Given the description of an element on the screen output the (x, y) to click on. 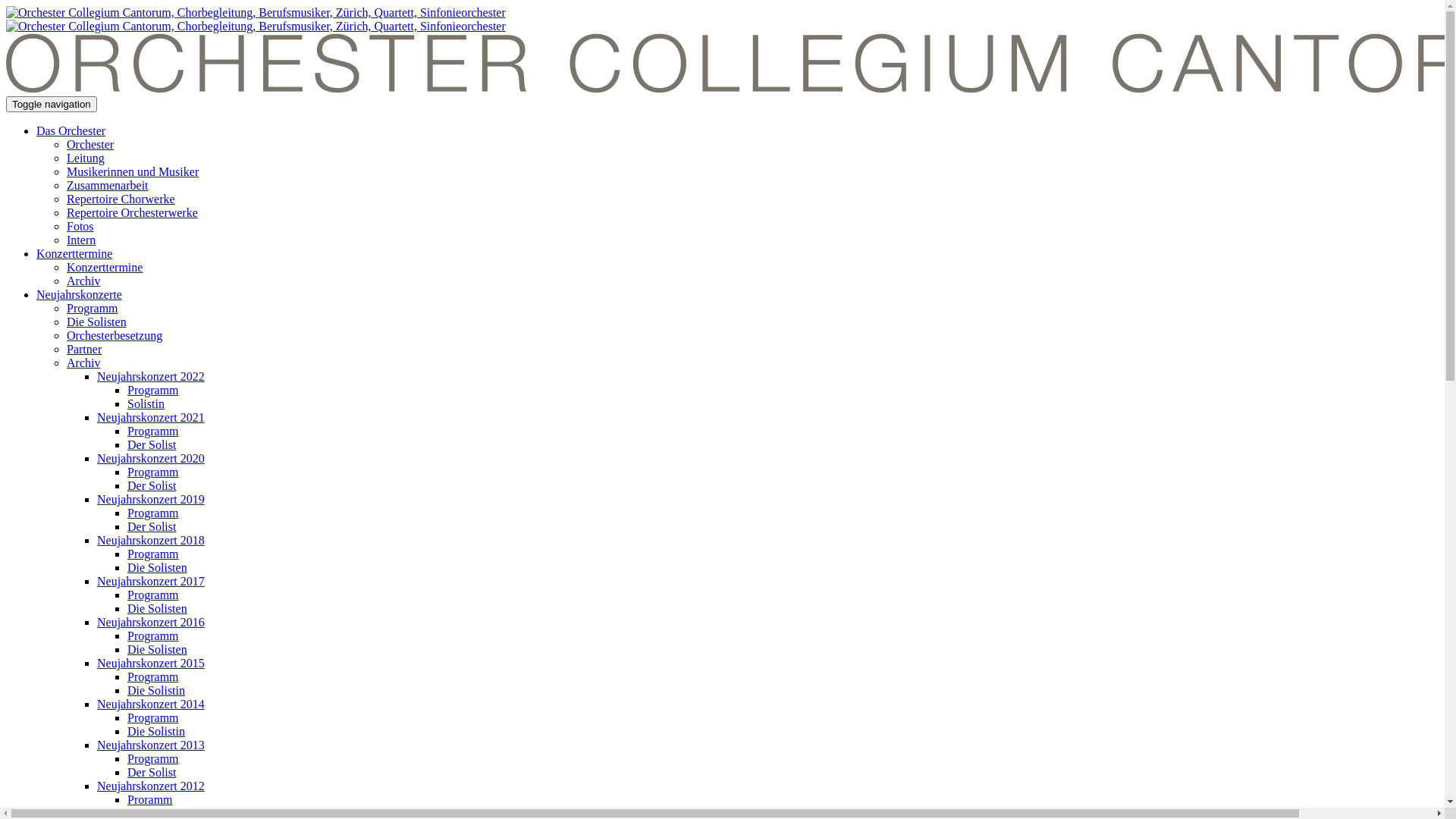
Programm Element type: text (152, 676)
Das Orchester Element type: text (70, 130)
Programm Element type: text (152, 389)
Repertoire Chorwerke Element type: text (120, 198)
Neujahrskonzert 2014 Element type: text (150, 703)
Konzerttermine Element type: text (104, 266)
Der Solist Element type: text (151, 444)
Die Solistin Element type: text (156, 730)
Neujahrskonzert 2019 Element type: text (150, 498)
Neujahrskonzert 2015 Element type: text (150, 662)
Repertoire Orchesterwerke Element type: text (131, 212)
Orchester Element type: text (89, 144)
Neujahrskonzert 2022 Element type: text (150, 376)
Programm Element type: text (152, 717)
Programm Element type: text (92, 307)
Neujahrskonzert 2012 Element type: text (150, 785)
Archiv Element type: text (83, 280)
Leitung Element type: text (85, 157)
Programm Element type: text (152, 594)
Neujahrskonzert 2020 Element type: text (150, 457)
Die Solistin Element type: text (156, 690)
Fotos Element type: text (80, 225)
Intern Element type: text (80, 239)
Zusammenarbeit Element type: text (107, 184)
Neujahrskonzert 2017 Element type: text (150, 580)
Archiv Element type: text (83, 362)
Neujahrskonzert 2013 Element type: text (150, 744)
Proramm Element type: text (149, 799)
Programm Element type: text (152, 471)
Die Solisten Element type: text (96, 321)
Neujahrskonzert 2016 Element type: text (150, 621)
Der Solist Element type: text (151, 526)
Programm Element type: text (152, 635)
Programm Element type: text (152, 758)
Konzerttermine Element type: text (74, 253)
Musikerinnen und Musiker Element type: text (132, 171)
Der Solist Element type: text (151, 771)
Neujahrskonzert 2018 Element type: text (150, 539)
Orchesterbesetzung Element type: text (114, 335)
Programm Element type: text (152, 430)
Toggle navigation Element type: text (51, 104)
Die Solisten Element type: text (157, 567)
Die Solisten Element type: text (157, 649)
Programm Element type: text (152, 512)
Programm Element type: text (152, 553)
Die Solisten Element type: text (157, 608)
Neujahrskonzert 2021 Element type: text (150, 417)
Solistin Element type: text (145, 403)
Partner Element type: text (83, 348)
Der Solist Element type: text (151, 485)
Neujahrskonzerte Element type: text (79, 294)
